Given the description of an element on the screen output the (x, y) to click on. 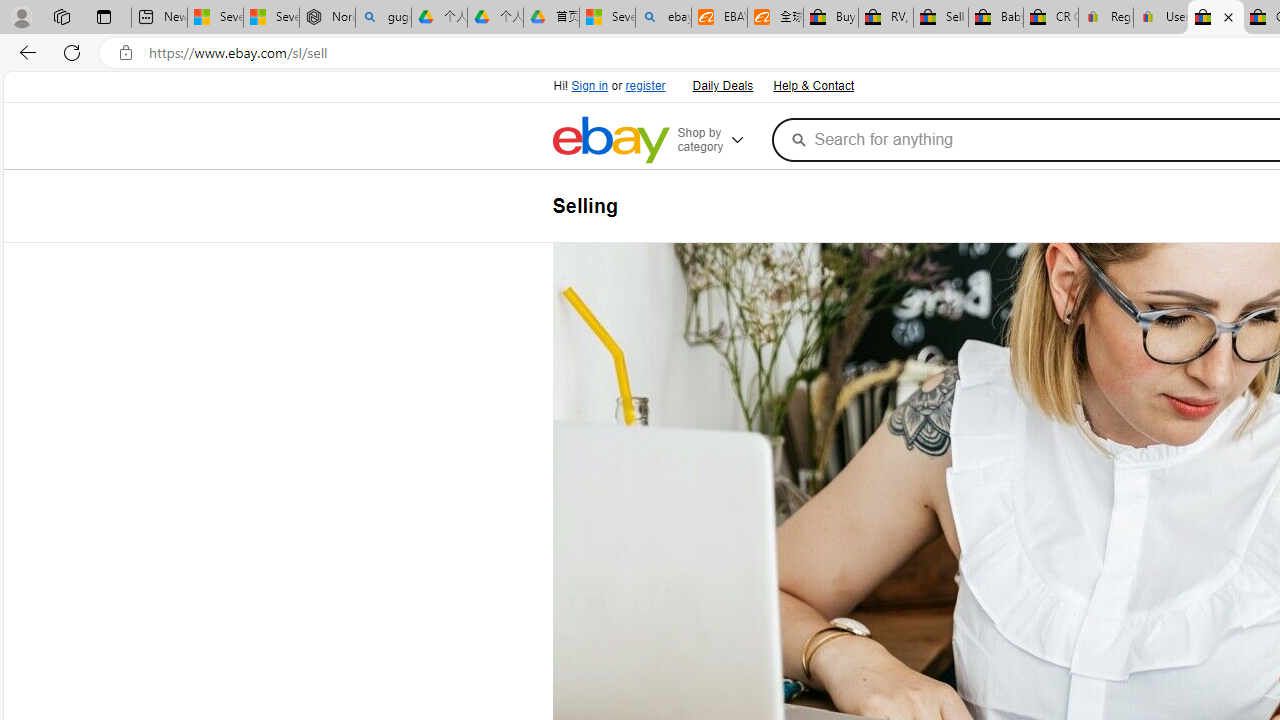
eBay Home (610, 139)
Shop by category (720, 140)
Register: Create a personal eBay account (1105, 17)
Daily Deals (722, 86)
